Given the description of an element on the screen output the (x, y) to click on. 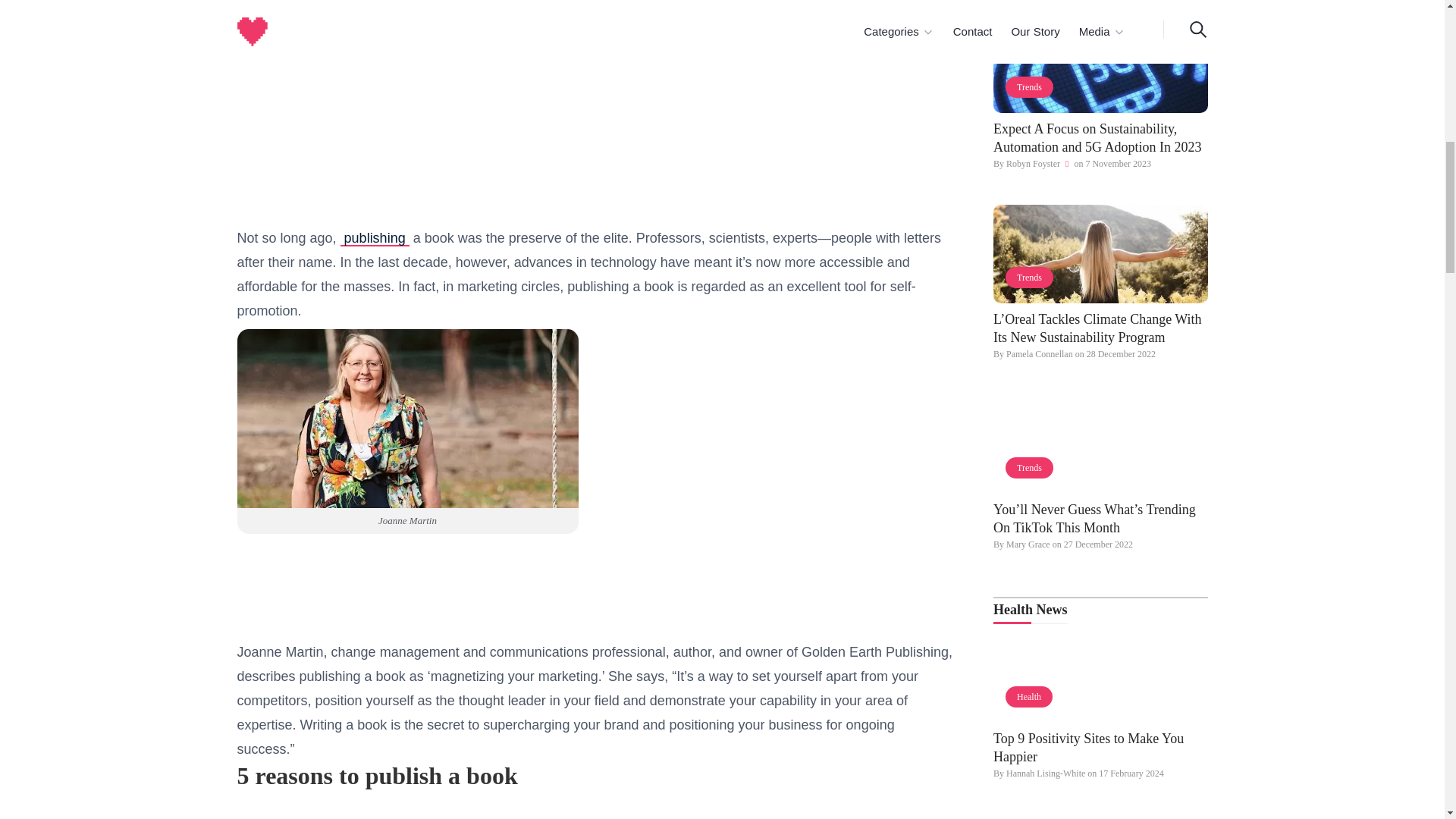
gluten free FoodSwitch (1100, 816)
publishing (374, 237)
woman in field (1100, 253)
TikTok (1100, 443)
